Given the description of an element on the screen output the (x, y) to click on. 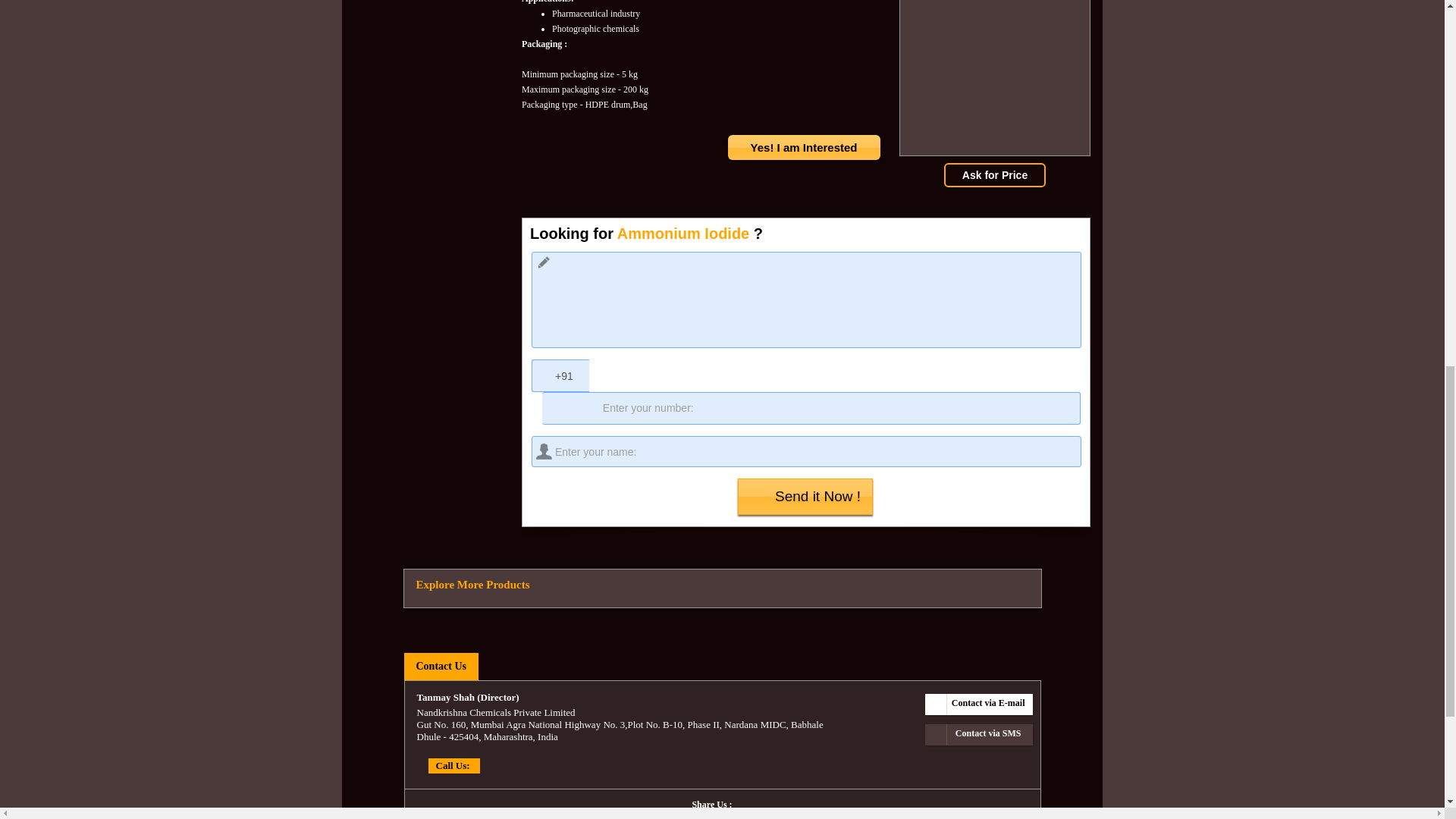
Send it Now ! (805, 496)
Enter your name: (806, 450)
Enter your number: (810, 408)
Send it Now ! (805, 496)
